Given the description of an element on the screen output the (x, y) to click on. 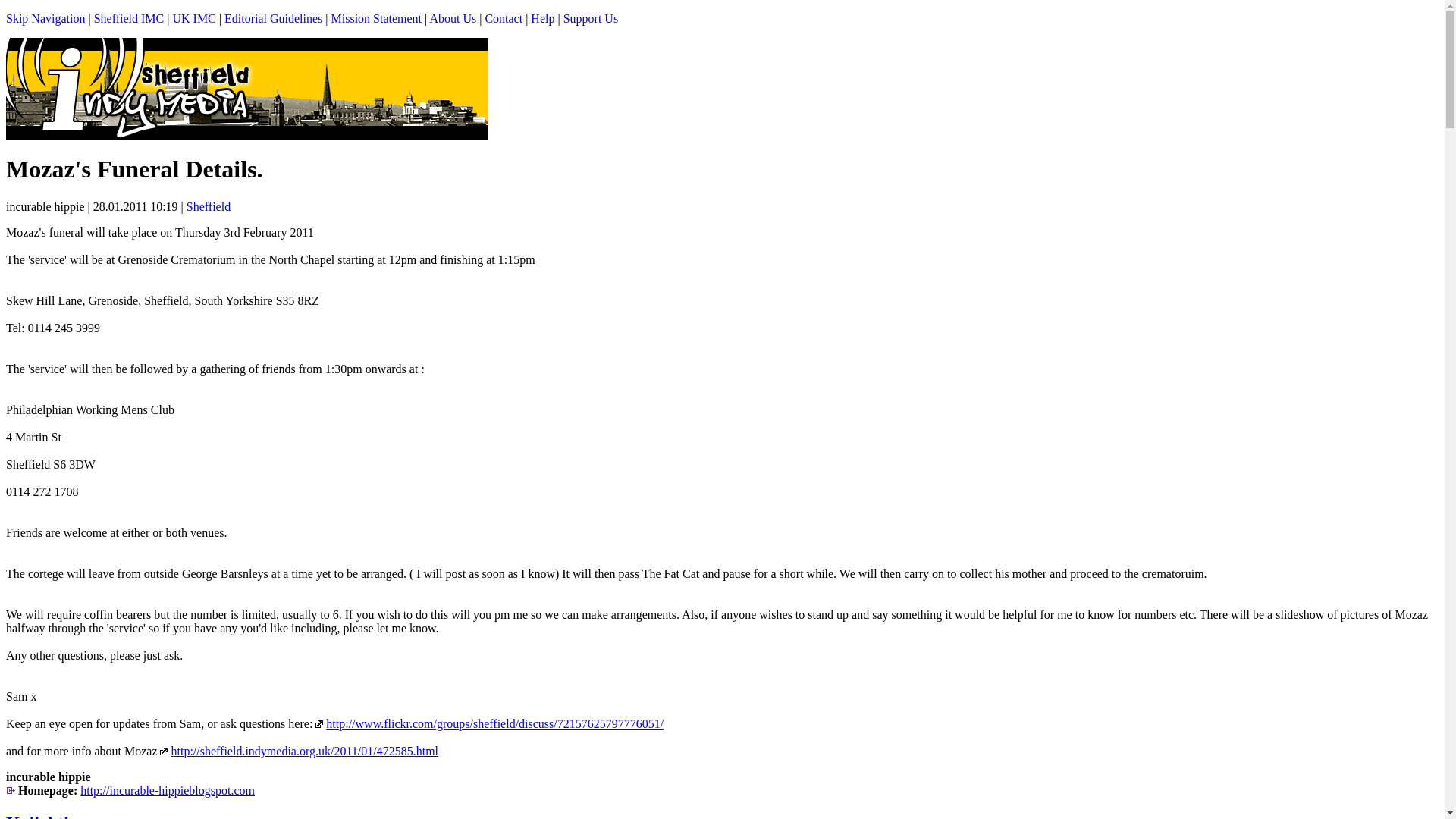
Kollektives (49, 816)
Editorial Guidelines (272, 18)
Support Us (590, 18)
Sheffield IMC (129, 18)
Contact (503, 18)
UK IMC (193, 18)
About Us (452, 18)
Help (542, 18)
Mission Statement (376, 18)
Sheffield (208, 205)
